Given the description of an element on the screen output the (x, y) to click on. 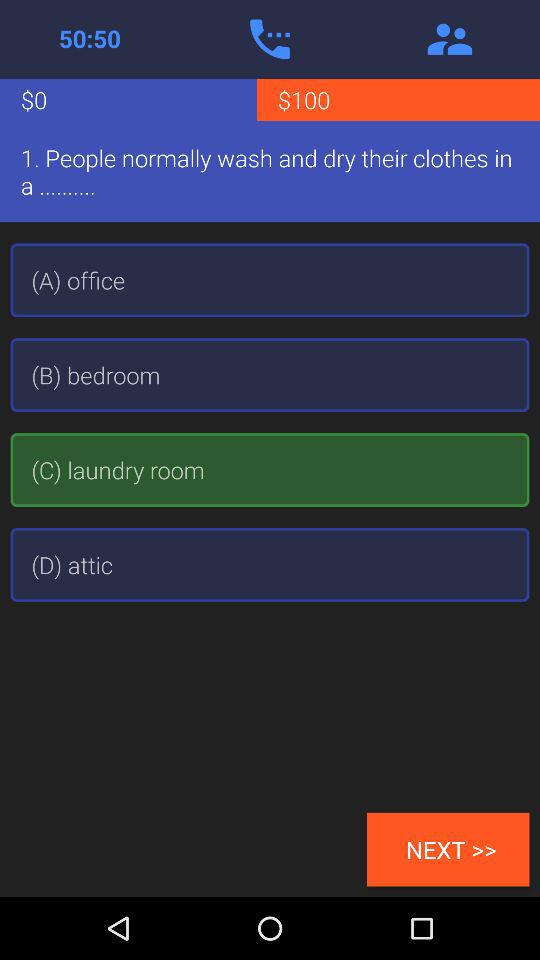
click the icon above (b) bedroom (269, 280)
